Given the description of an element on the screen output the (x, y) to click on. 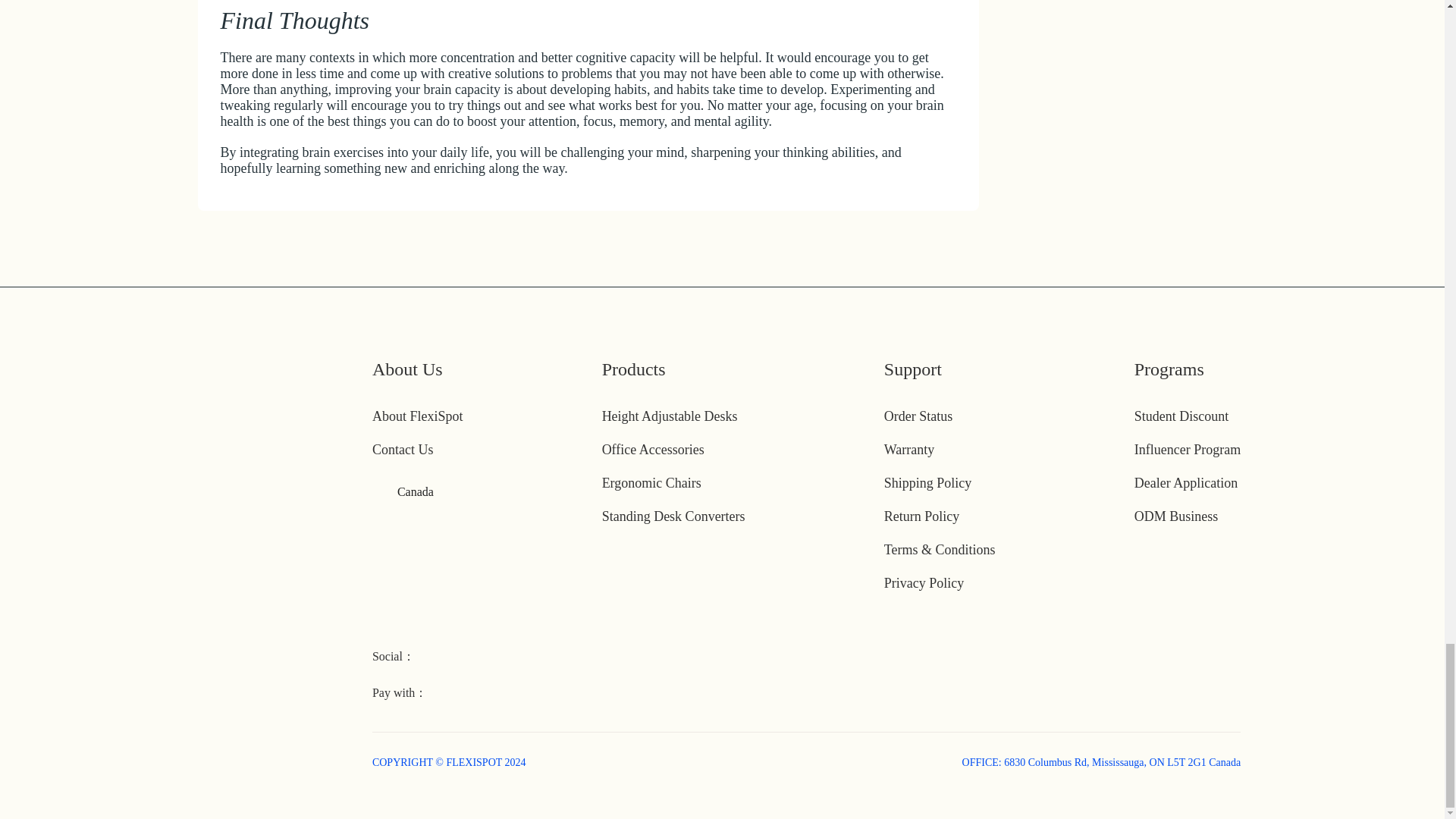
ODM Business (1176, 516)
Privacy Policy (923, 582)
Office Accessories (653, 449)
Contact Us (402, 449)
Height Adjustable Desks (670, 416)
Order Status (917, 416)
Warranty (908, 449)
Return Policy (921, 516)
Shipping Policy (927, 482)
About FlexiSpot (417, 416)
Standing Desk Converters (673, 516)
Dealer Application (1185, 482)
Student Discount (1181, 416)
Ergonomic Chairs (651, 482)
Influencer Program (1187, 449)
